Given the description of an element on the screen output the (x, y) to click on. 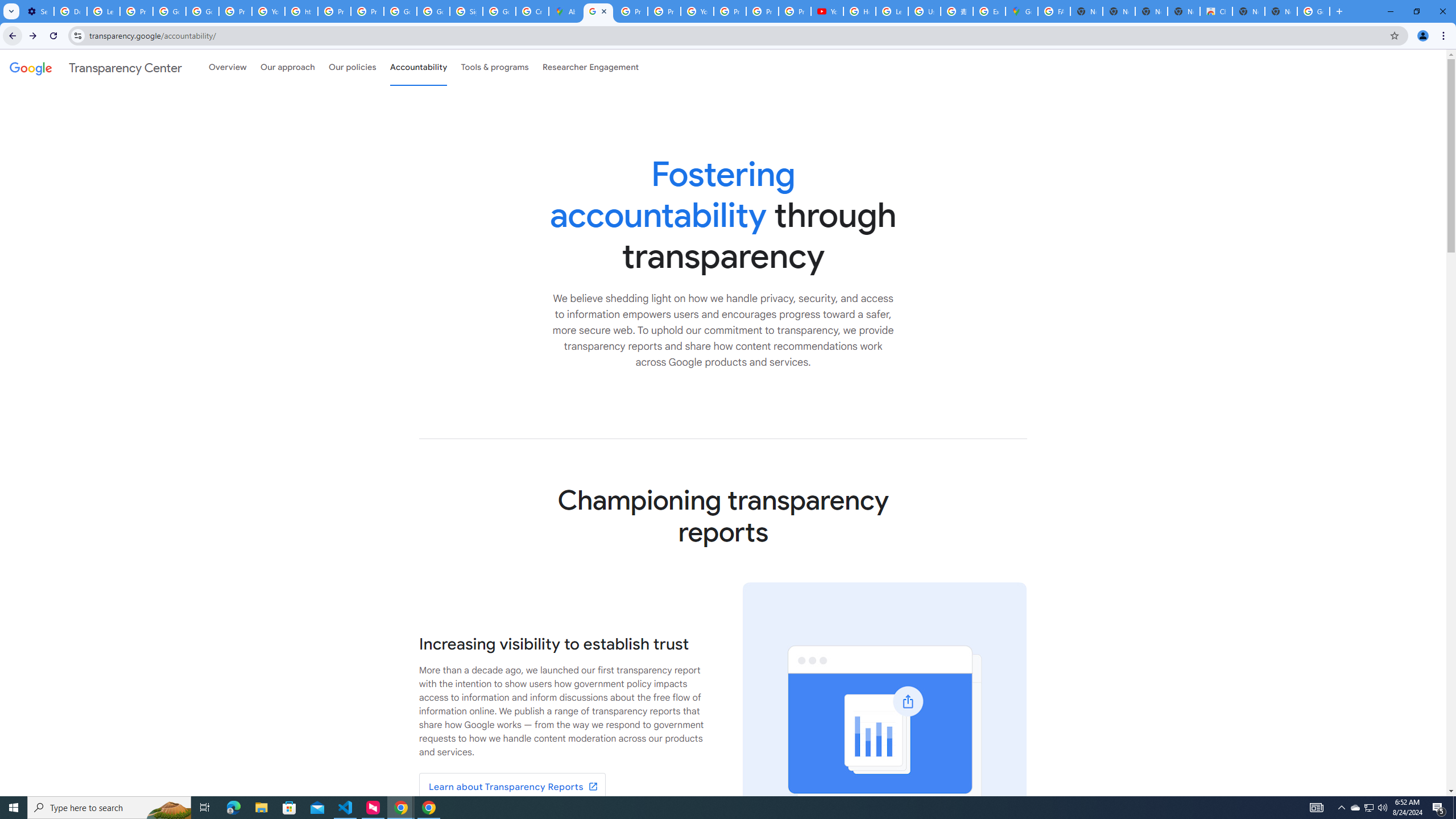
Google Images (1313, 11)
Google Maps (1021, 11)
Sign in - Google Accounts (465, 11)
Create your Google Account (532, 11)
How Chrome protects your passwords - Google Chrome Help (859, 11)
Privacy Checkup (762, 11)
Tools & programs (494, 67)
YouTube (827, 11)
Settings - On startup (37, 11)
Privacy Help Center - Policies Help (631, 11)
YouTube (268, 11)
